Given the description of an element on the screen output the (x, y) to click on. 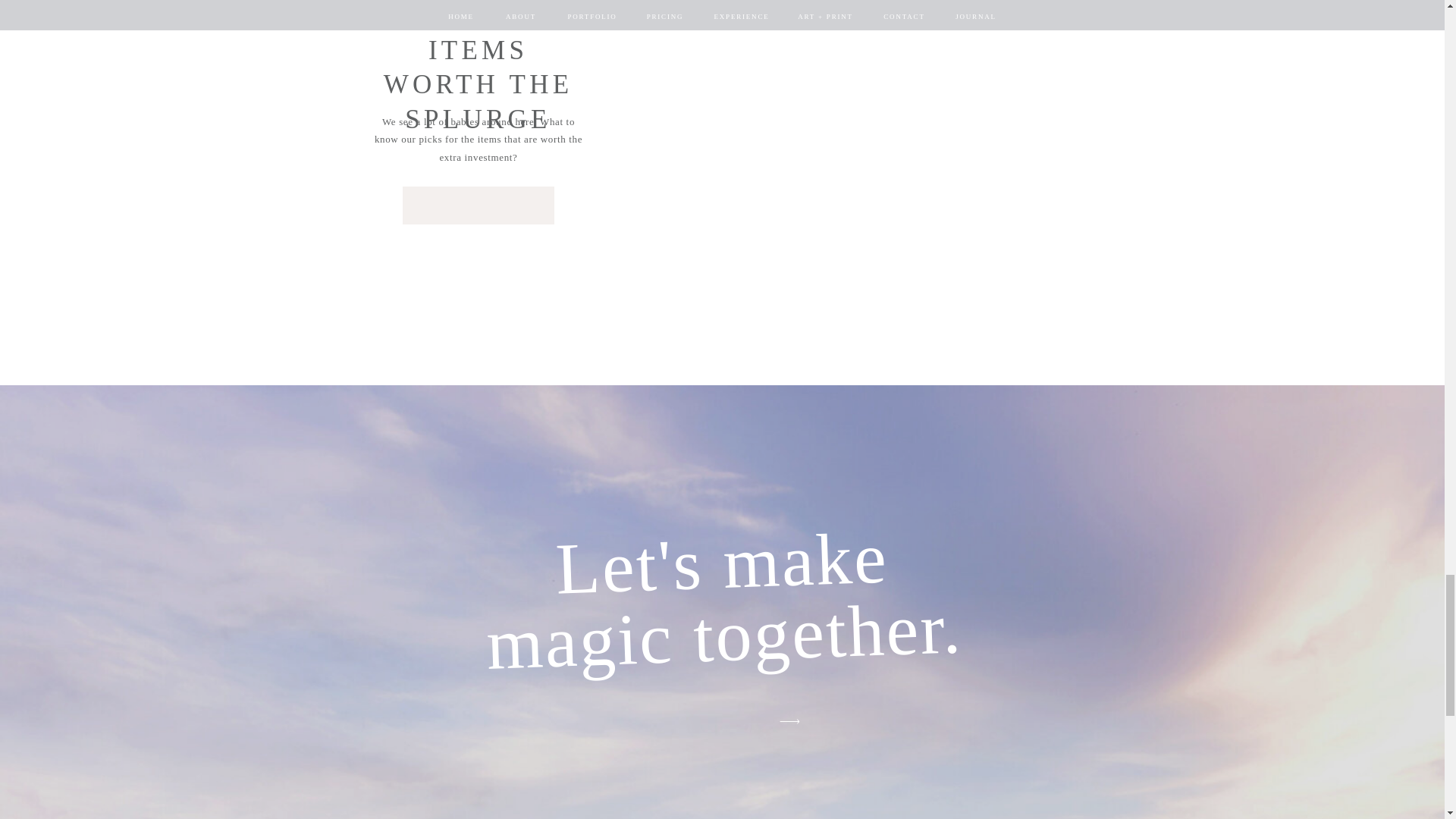
arrow (789, 721)
